Given the description of an element on the screen output the (x, y) to click on. 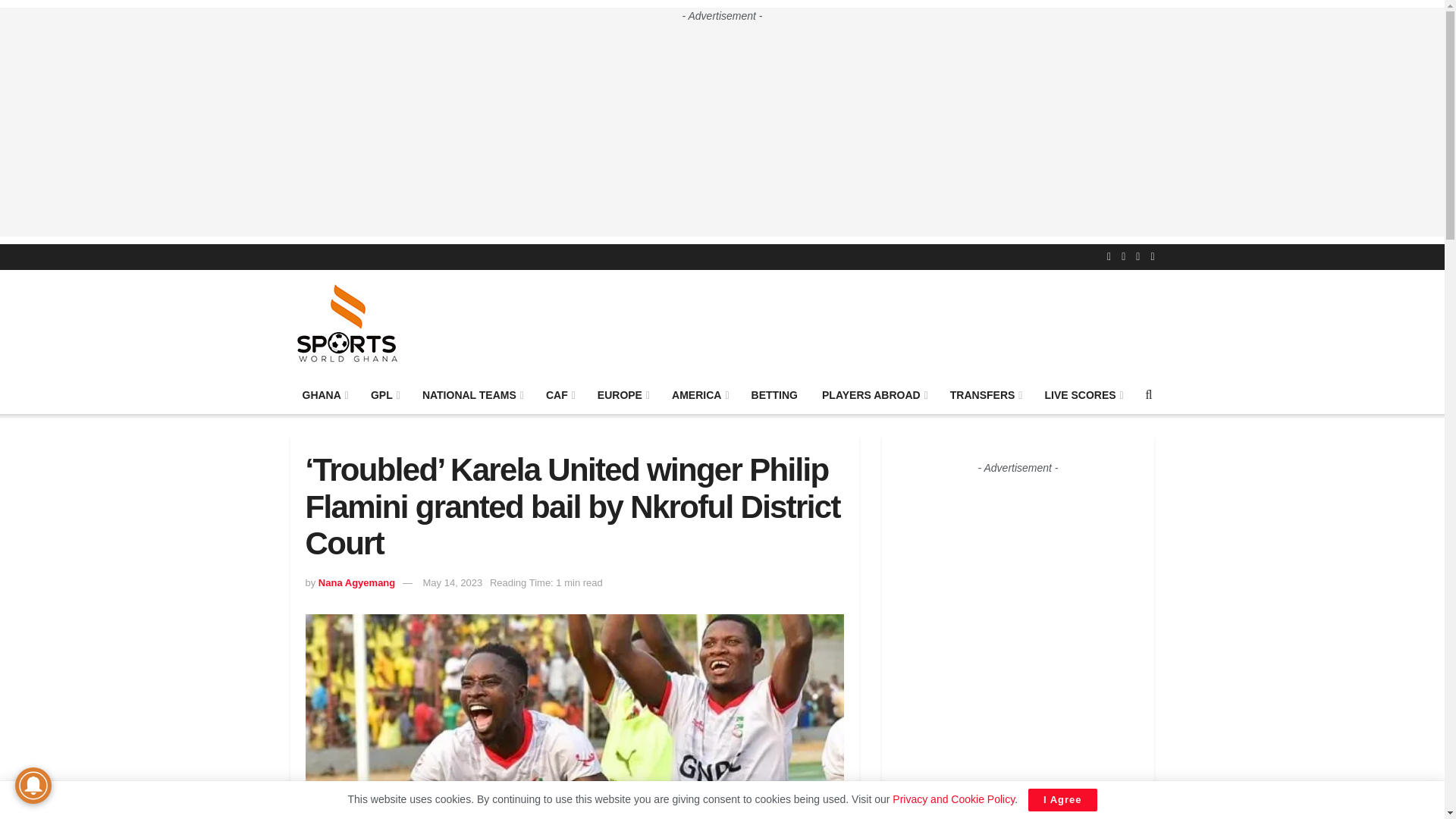
GHANA (323, 394)
NATIONAL TEAMS (472, 394)
GPL (384, 394)
